Given the description of an element on the screen output the (x, y) to click on. 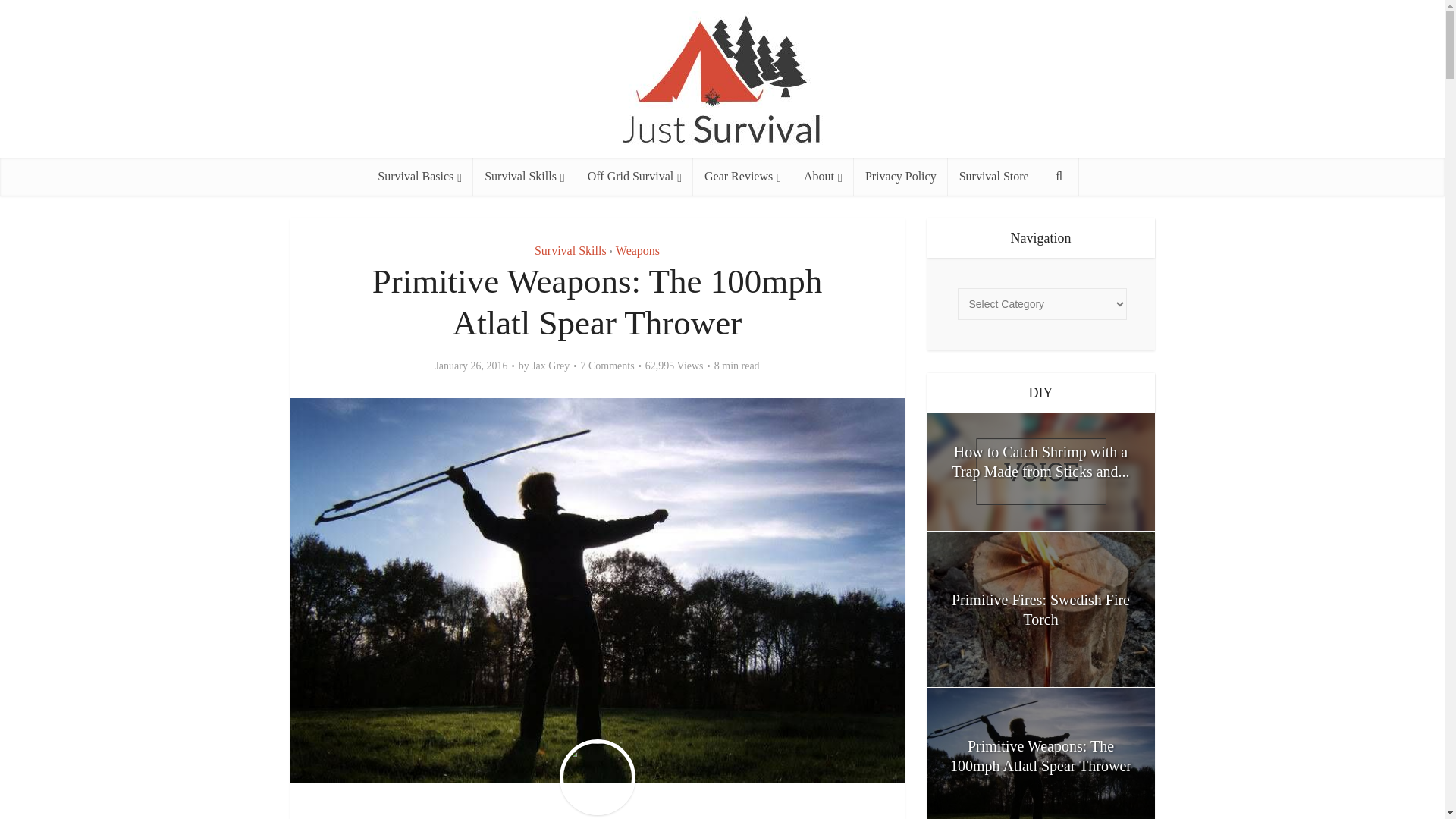
Primitive Fires: Swedish Fire Torch (1040, 609)
Primitive Weapons: The 100mph Atlatl Spear Thrower (1040, 753)
Survival Basics (419, 176)
Off Grid Survival (634, 176)
Gear Reviews (742, 176)
Survival Store (994, 176)
Just Survival (722, 83)
How to Catch Shrimp with a Trap Made from Sticks and Vines (1040, 471)
Jax Grey (550, 366)
Weapons (637, 250)
7 Comments (606, 366)
Primitive Fires: Swedish Fire Torch (1040, 609)
Survival Skills (570, 250)
How to Catch Shrimp with a Trap Made from Sticks and Vines (1040, 461)
Privacy Policy (900, 176)
